Given the description of an element on the screen output the (x, y) to click on. 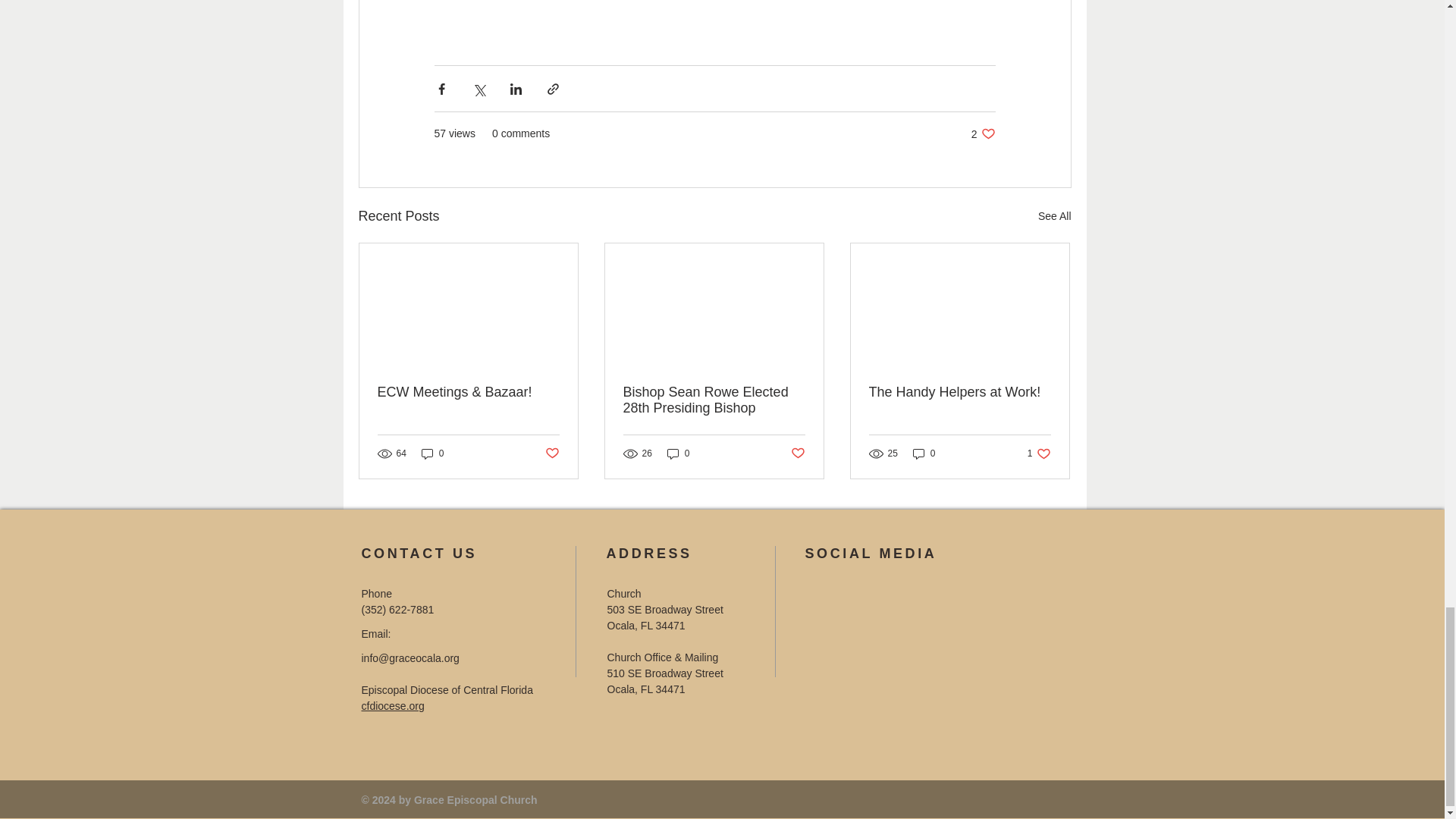
See All (1054, 216)
0 (432, 452)
Post not marked as liked (551, 453)
